Given the description of an element on the screen output the (x, y) to click on. 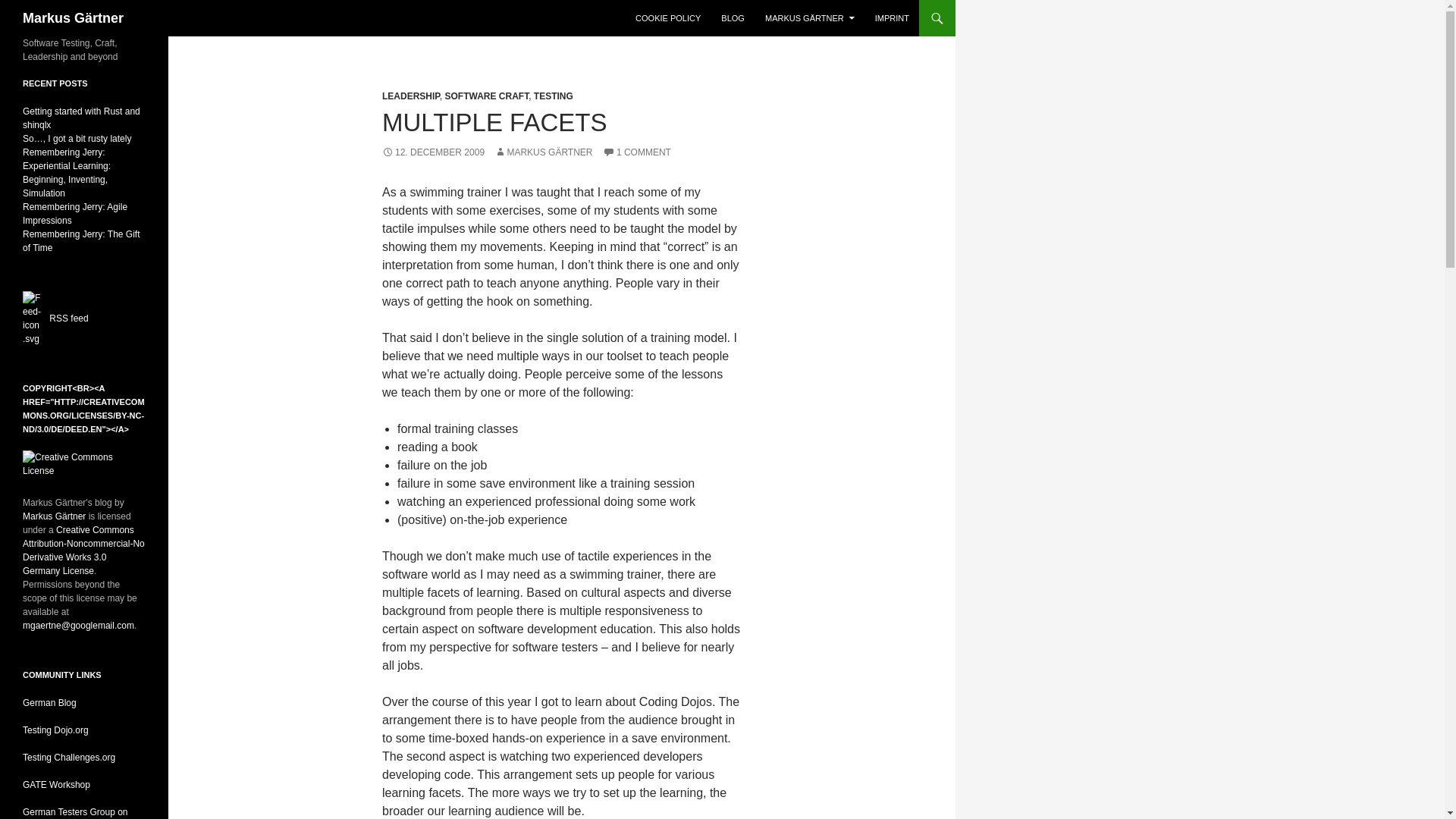
RSS feed (68, 317)
IMPRINT (892, 18)
SOFTWARE CRAFT (486, 95)
Remembering Jerry: Agile Impressions (75, 213)
Remembering Jerry: The Gift of Time (81, 241)
1 COMMENT (636, 152)
TESTING (553, 95)
BLOG (732, 18)
